Given the description of an element on the screen output the (x, y) to click on. 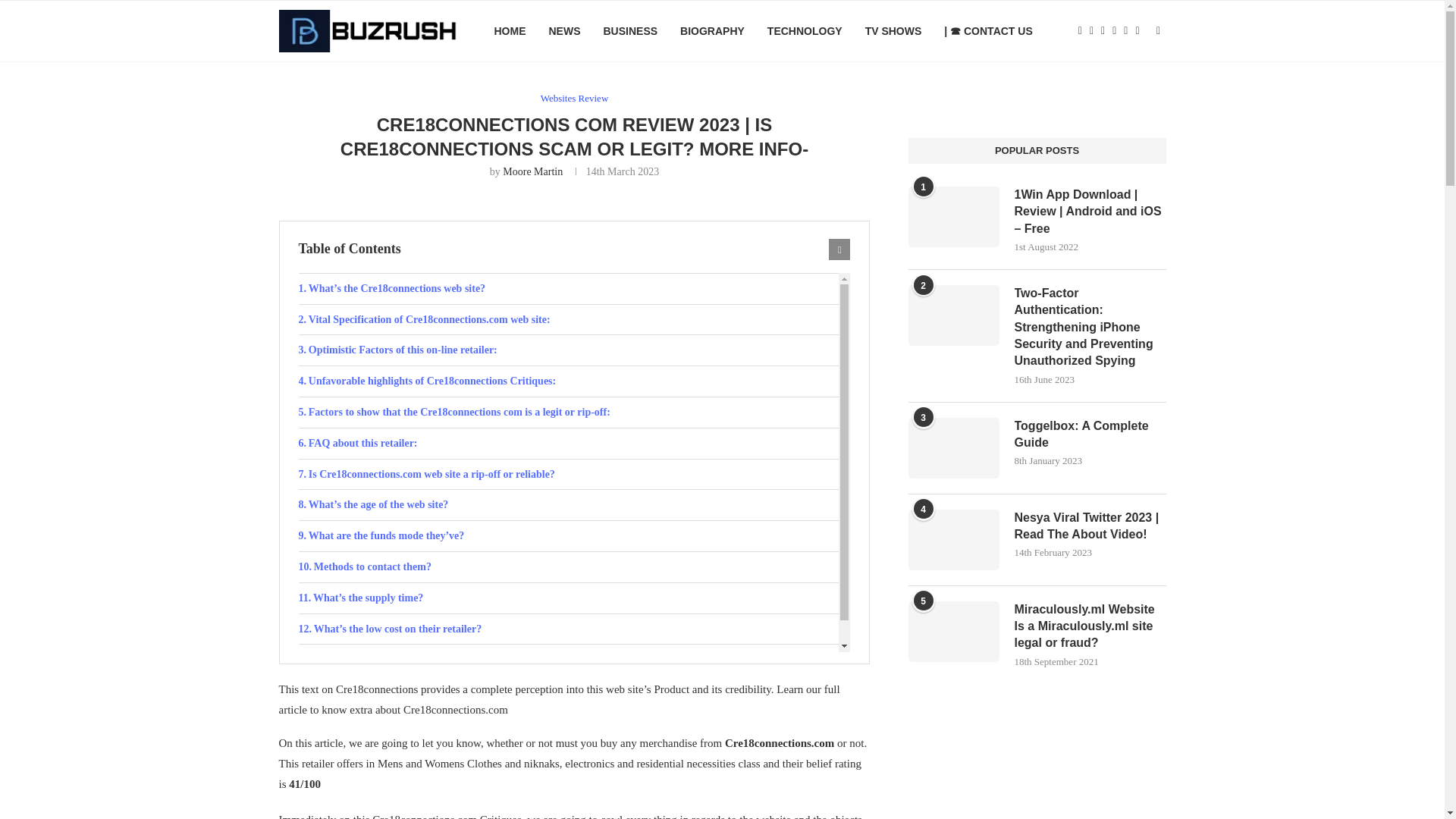
Methods to contact them? (569, 567)
Is Cre18connections.com web site a rip-off or reliable? (569, 474)
Websites Review (574, 98)
Is Cre18connections.com web site a rip-off or reliable? (569, 474)
TV SHOWS (892, 30)
Optimistic Factors of this on-line retailer: (569, 349)
BIOGRAPHY (711, 30)
Vital Specification of Cre18connections.com web site: (569, 319)
